Given the description of an element on the screen output the (x, y) to click on. 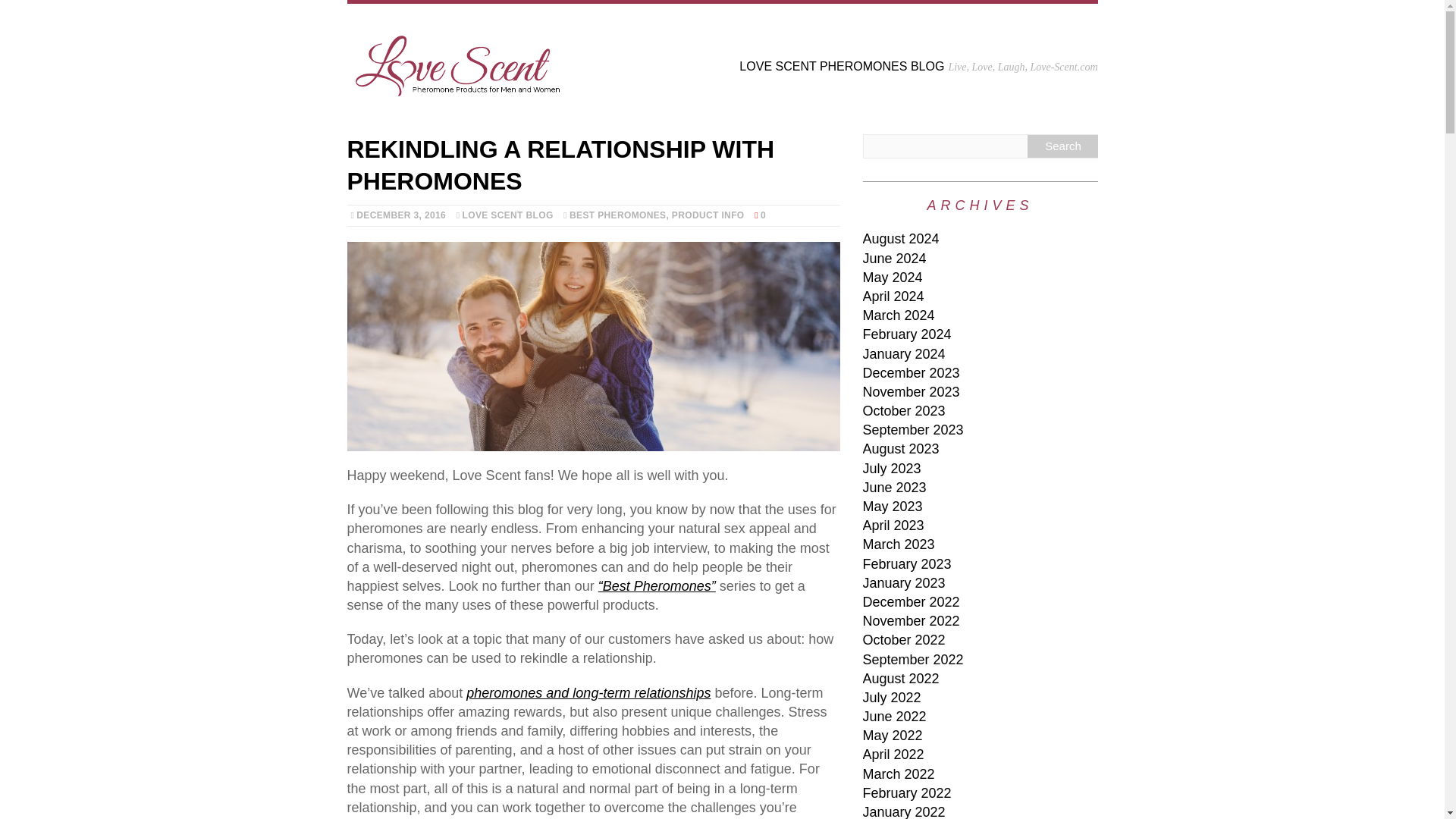
happy-couple (593, 346)
February 2024 (907, 334)
BEST PHEROMONES (617, 214)
November 2023 (911, 391)
PRODUCT INFO (707, 214)
Posts by Love Scent Blog (508, 214)
LOVE SCENT BLOG (508, 214)
April 2024 (893, 296)
Love Scent Pheromones Blog (722, 61)
May 2024 (893, 277)
